Given the description of an element on the screen output the (x, y) to click on. 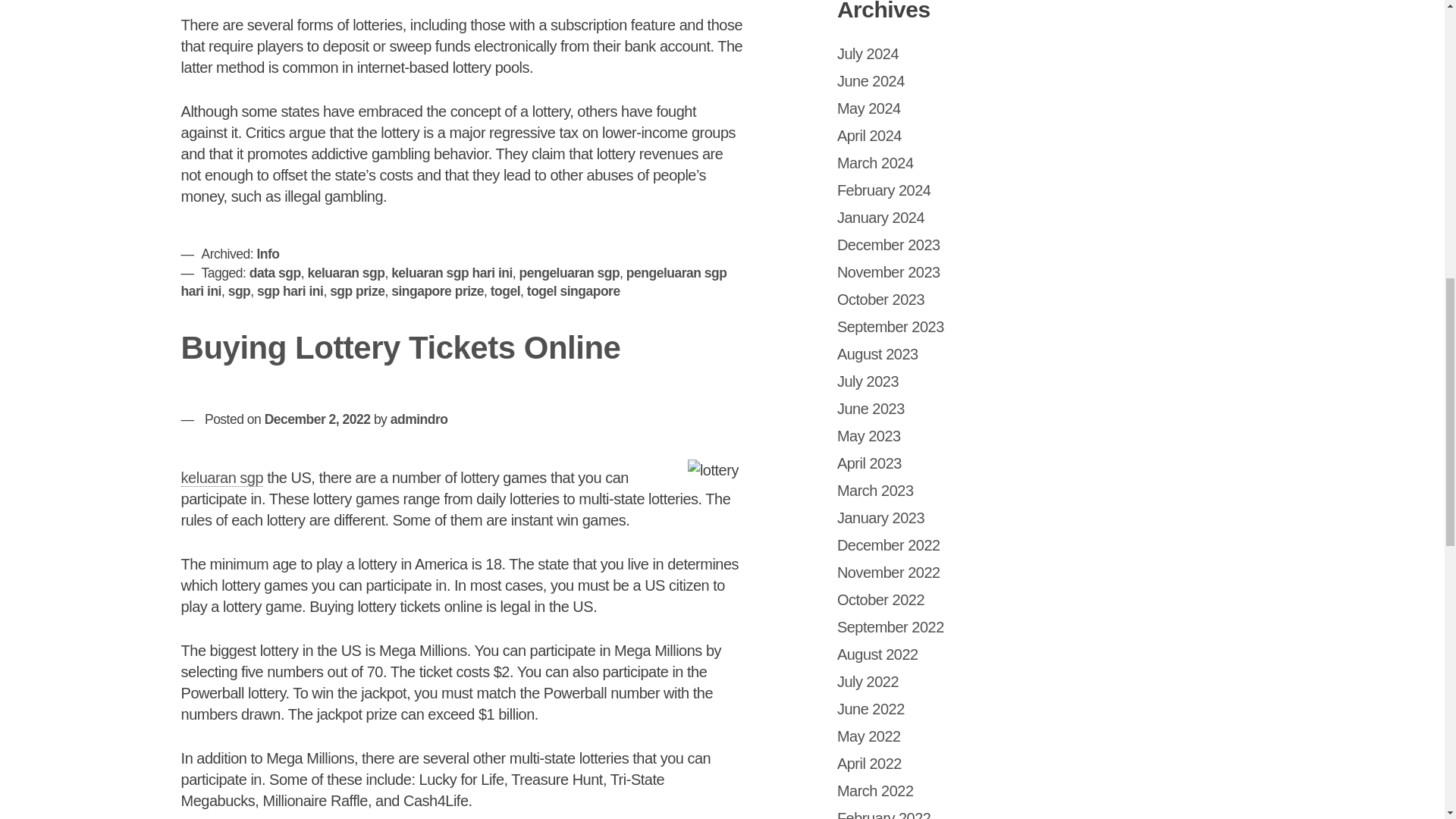
data sgp (274, 272)
sgp prize (357, 290)
sgp hari ini (290, 290)
Info (267, 253)
Buying Lottery Tickets Online (400, 347)
December 2, 2022 (317, 418)
singapore prize (437, 290)
pengeluaran sgp hari ini (453, 282)
togel (504, 290)
keluaran sgp hari ini (451, 272)
sgp (239, 290)
keluaran sgp (345, 272)
pengeluaran sgp (569, 272)
keluaran sgp (221, 477)
togel singapore (573, 290)
